Given the description of an element on the screen output the (x, y) to click on. 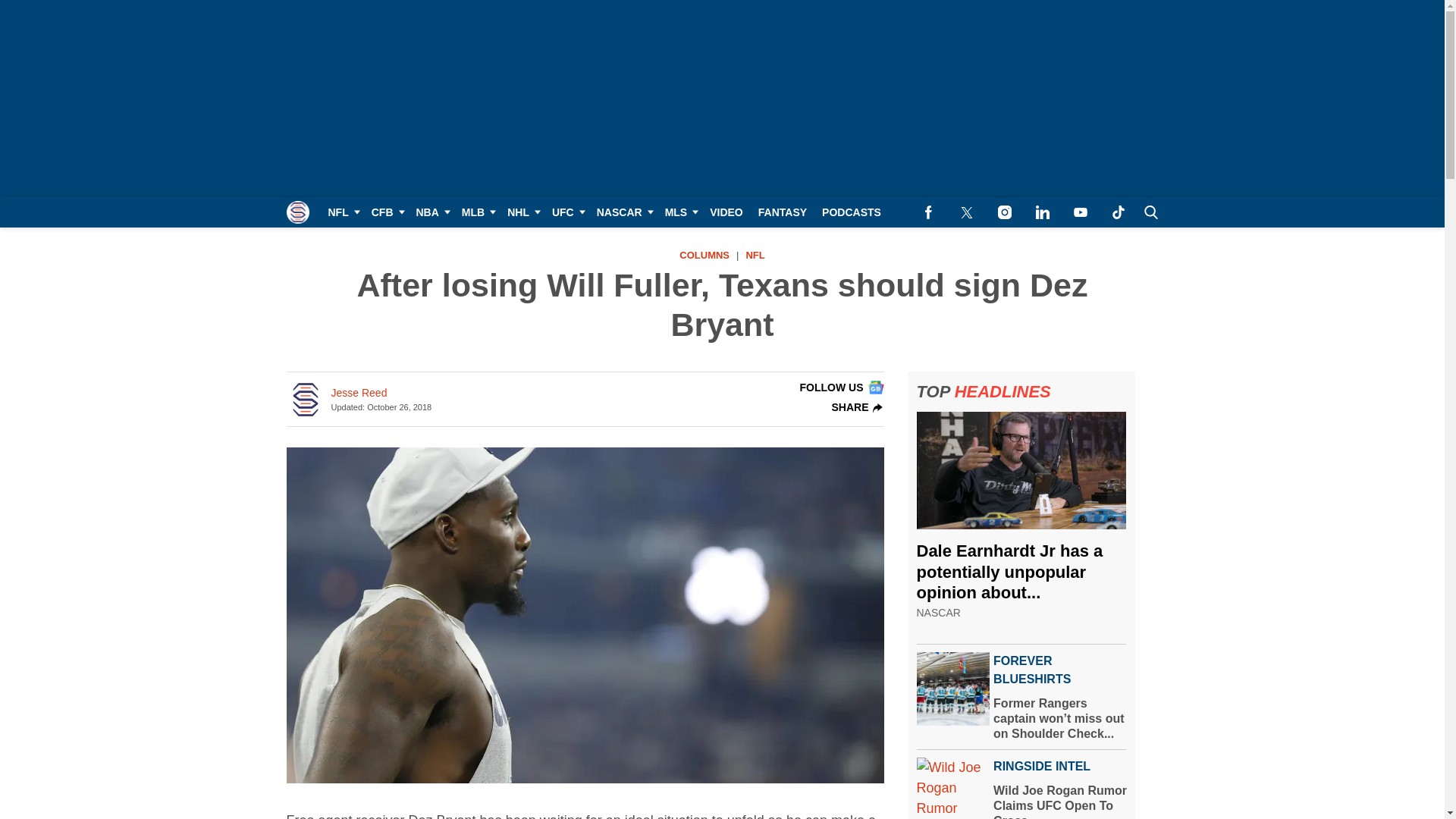
Connect with us on LinkedIn (1042, 212)
NHL (521, 212)
MLB (476, 212)
Posts by Jesse Reed (358, 392)
CFB (386, 212)
Follow us on Facebook (928, 212)
UFC (566, 212)
Subscribe to our TikTok channel (1118, 212)
Follow us on Twitter (966, 212)
NBA (429, 212)
NFL (341, 212)
Subscribe to our YouTube channel (1080, 212)
Follow us on Instagram (1004, 212)
